Given the description of an element on the screen output the (x, y) to click on. 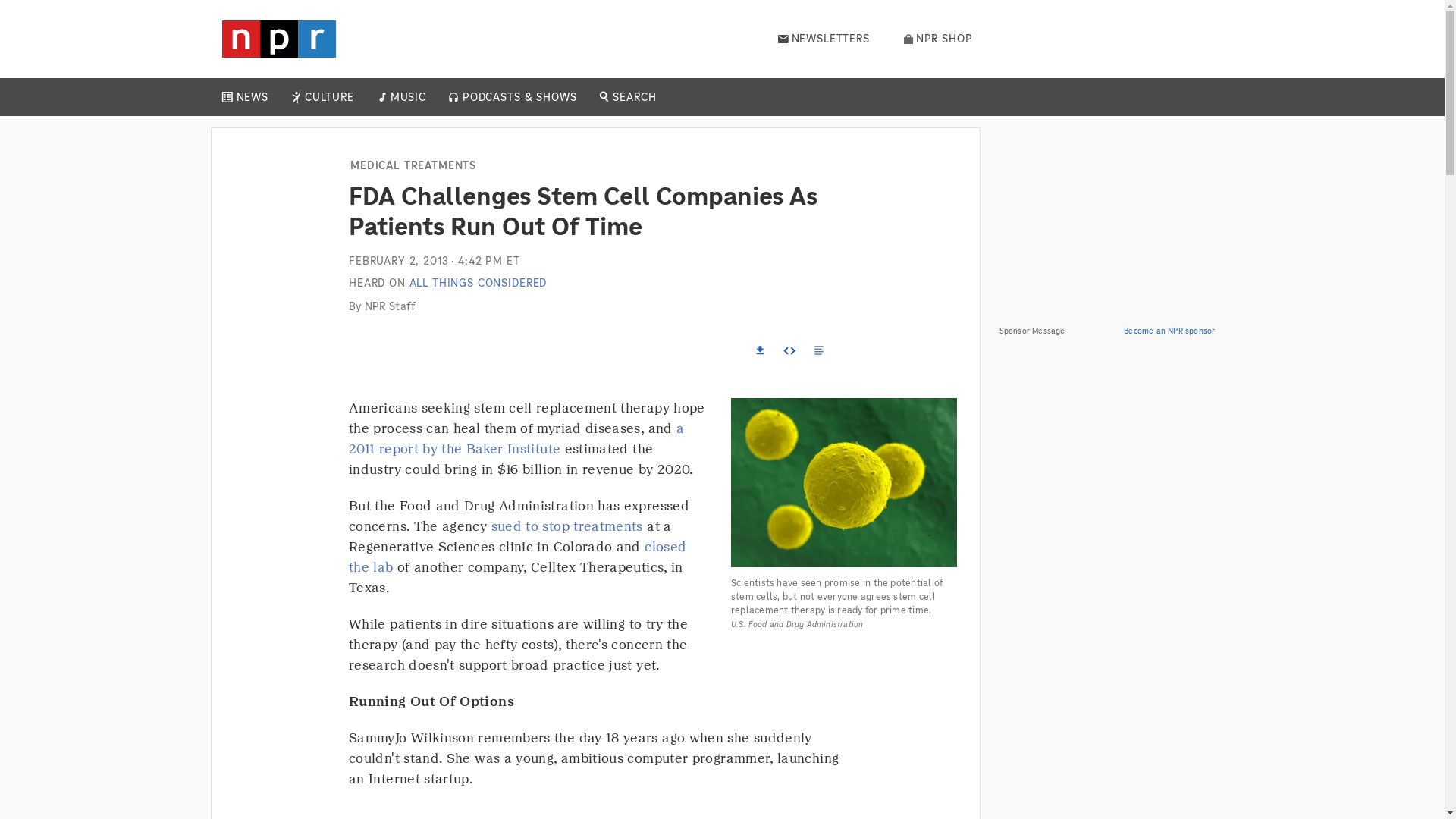
CULTURE (328, 96)
NEWS (251, 96)
NPR SHOP (938, 38)
MUSIC (407, 96)
NEWSLETTERS (823, 38)
